Given the description of an element on the screen output the (x, y) to click on. 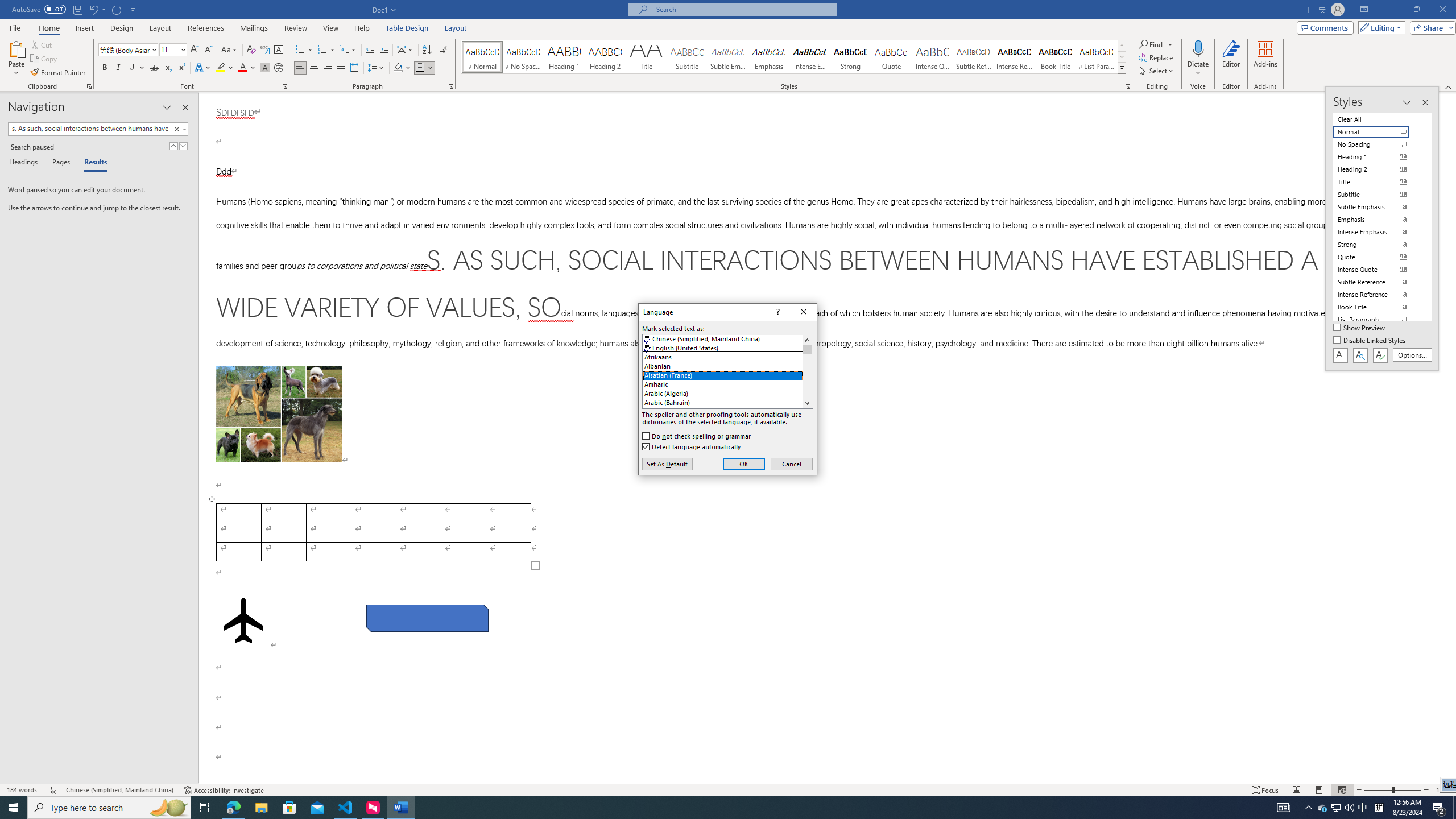
Heading 2 (605, 56)
No Spacing (1377, 144)
Superscript (180, 67)
Numbering (326, 49)
Find (1151, 44)
Zoom 100% (1443, 790)
Read Mode (1296, 790)
Zoom Out (1377, 790)
Disable Linked Styles (1370, 340)
AutoSave (38, 9)
File Explorer (261, 807)
Borders (419, 67)
English (United States) (727, 347)
